Given the description of an element on the screen output the (x, y) to click on. 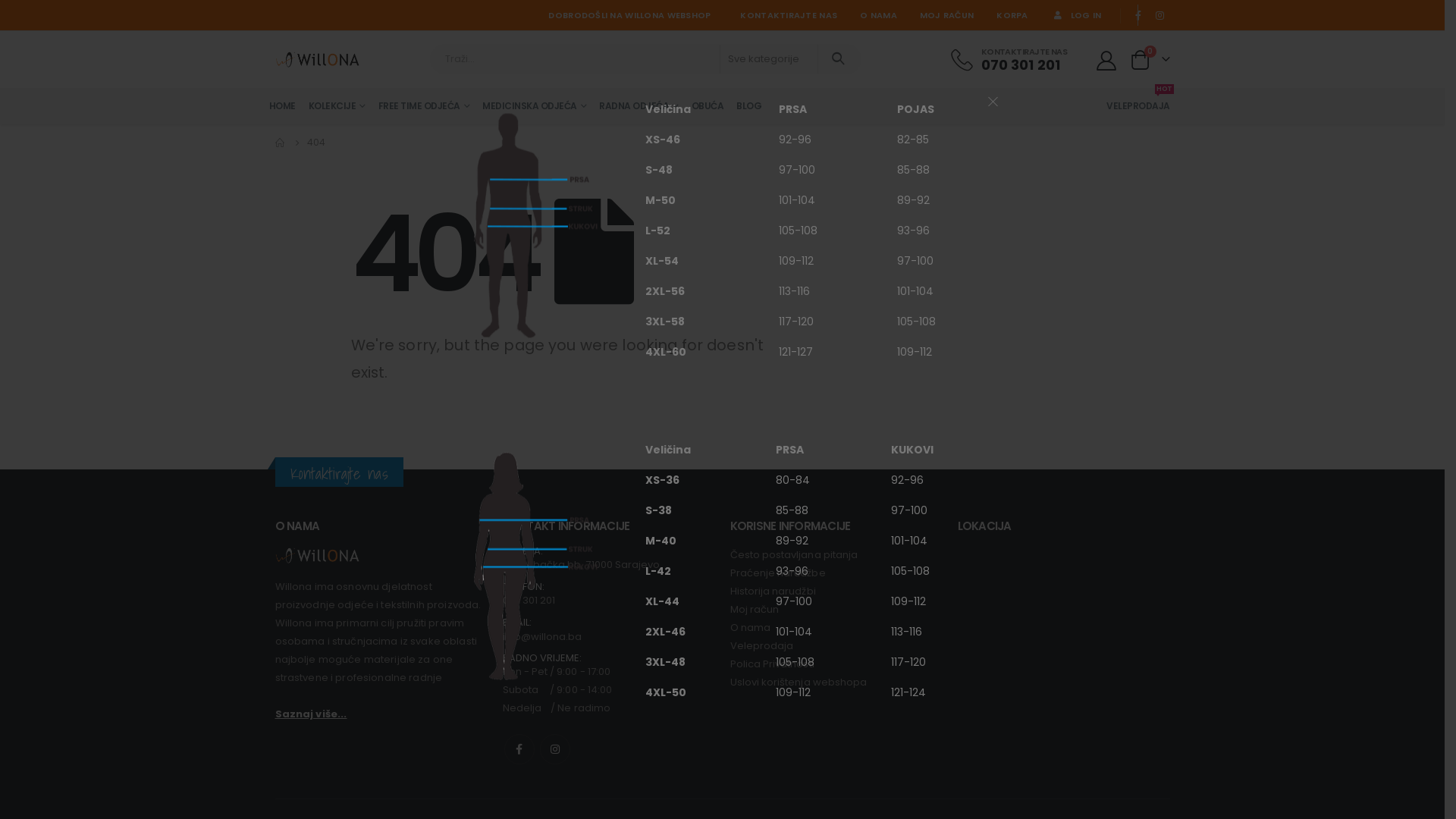
Instagram Element type: hover (554, 749)
Facebook Element type: hover (1138, 15)
KOLEKCIJE Element type: text (335, 105)
Veleprodaja Element type: text (835, 646)
Go to Home Page Element type: hover (279, 142)
KONTAKTIRAJTE NAS Element type: text (788, 15)
My Account Element type: hover (1105, 59)
Willona d.o.o. - Kvalitet ispred svih! Element type: hover (316, 58)
O nama Element type: text (835, 627)
Pretraga Element type: hover (837, 58)
LOG IN Element type: text (1076, 15)
BLOG Element type: text (748, 105)
HOME Element type: text (281, 105)
Facebook Element type: hover (518, 749)
Polica Privatnosti Element type: text (835, 664)
VELEPRODAJA
HOT Element type: text (1134, 106)
KORPA Element type: text (1011, 15)
O NAMA Element type: text (878, 15)
Instagram Element type: hover (1160, 15)
